Given the description of an element on the screen output the (x, y) to click on. 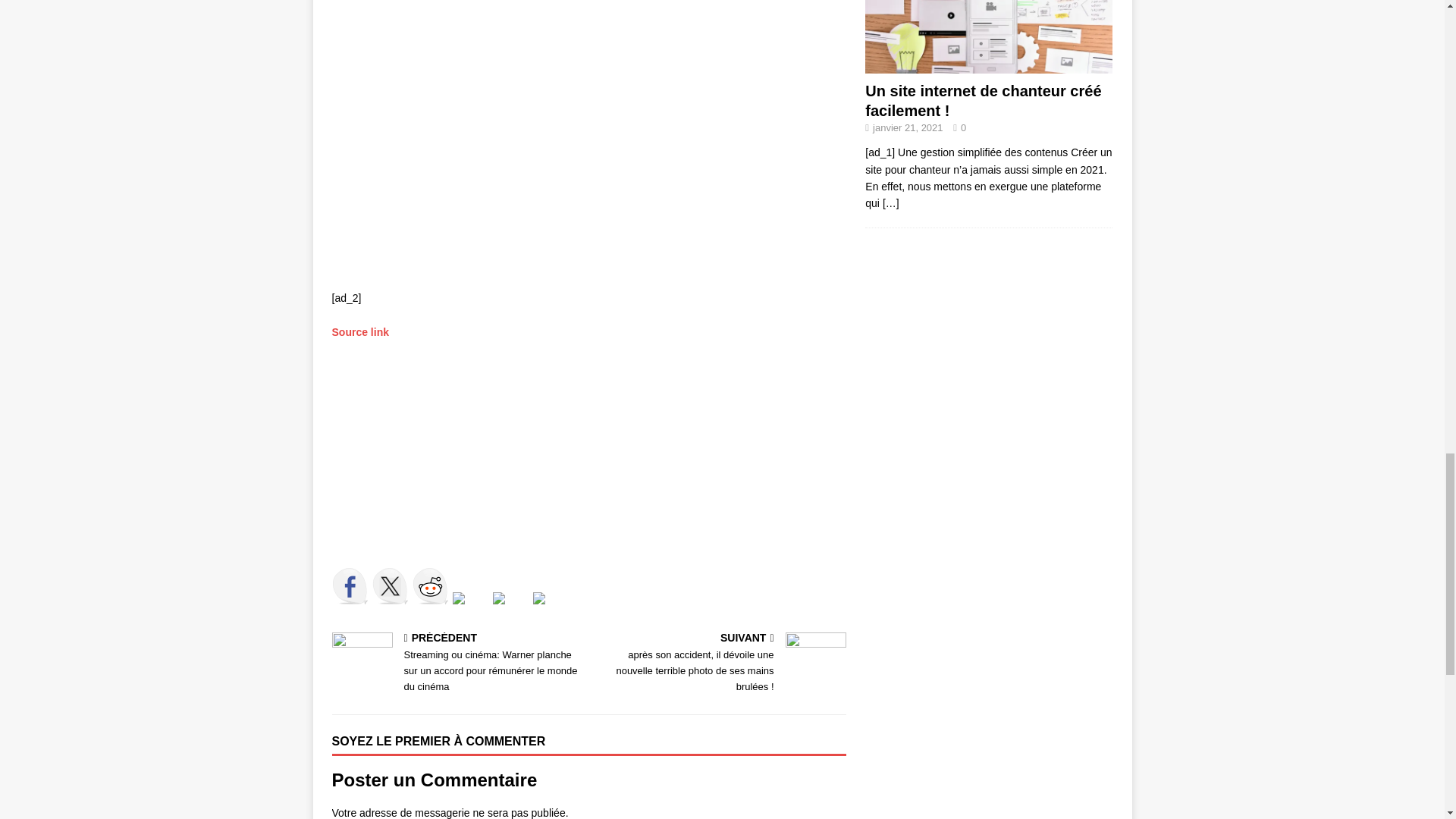
Pin it with Pinterest (457, 598)
Pin it with Pinterest (469, 610)
Share on Linkedin (499, 598)
Share on Reddit (430, 586)
Share on Facebook (349, 586)
Share on Linkedin (511, 610)
Share on Twitter (389, 586)
Share by email (550, 610)
Source link (359, 331)
